Given the description of an element on the screen output the (x, y) to click on. 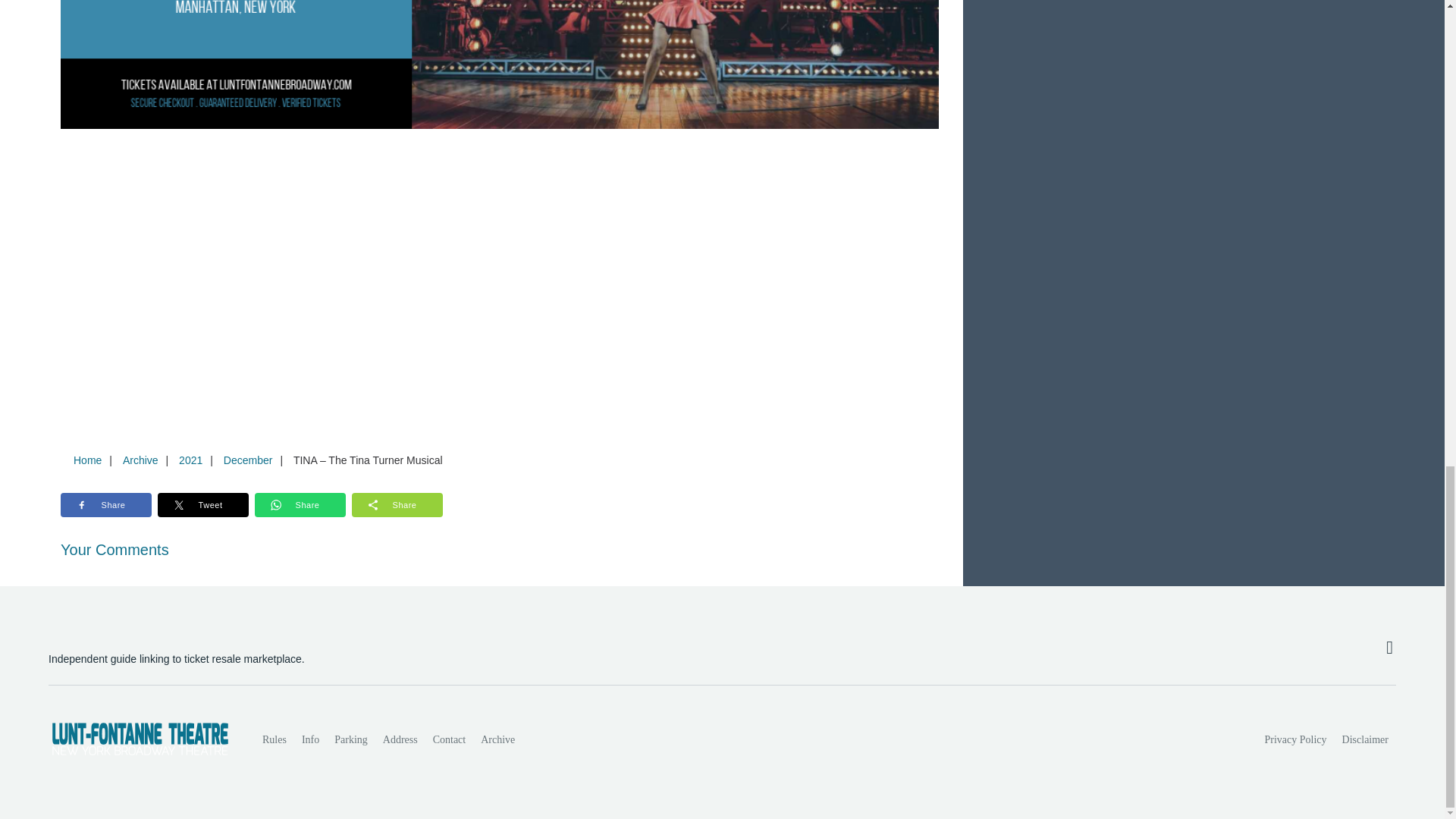
Archive (140, 460)
Privacy Policy (1296, 739)
2021 (190, 460)
Disclaimer (1365, 739)
Home (87, 460)
Contact (449, 739)
Rules (274, 739)
Info (310, 739)
Address (400, 739)
December (248, 460)
